Given the description of an element on the screen output the (x, y) to click on. 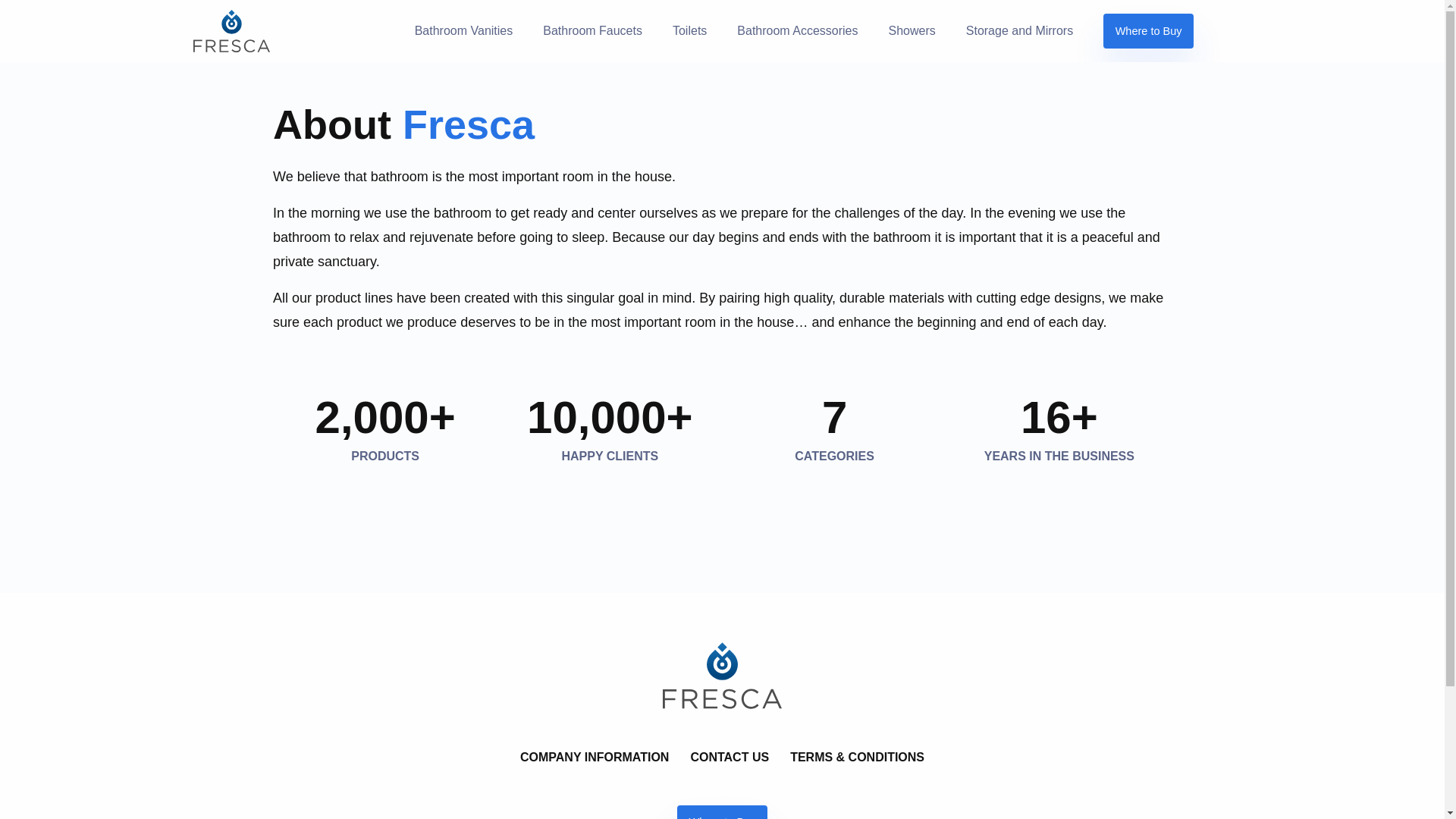
Bathroom Accessories (797, 30)
Toilets (690, 30)
Bathroom Faucets (592, 30)
Bathroom Vanities (463, 30)
Storage and Mirrors (1018, 30)
Showers (911, 30)
